Given the description of an element on the screen output the (x, y) to click on. 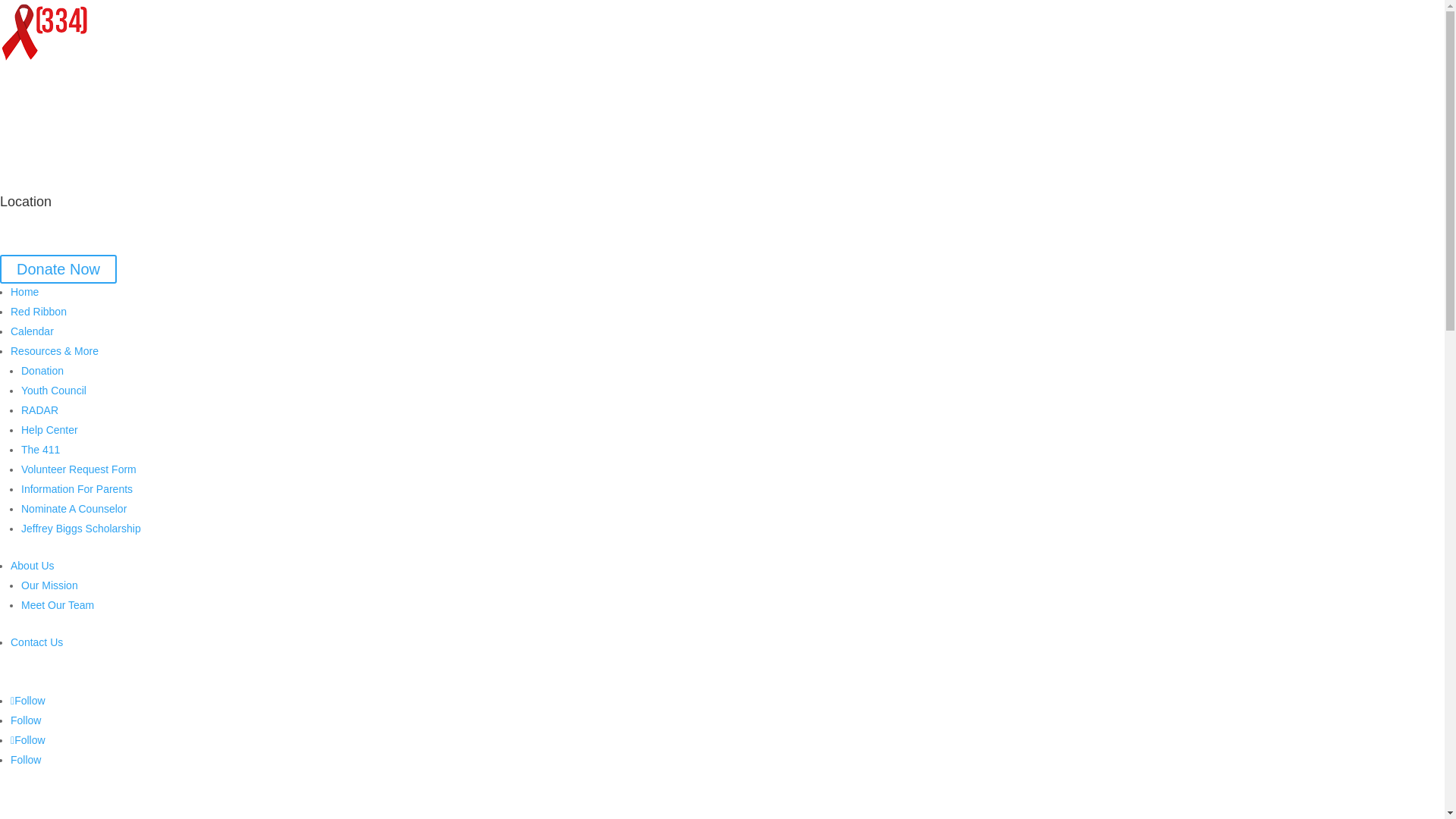
Information For Parents Element type: text (76, 489)
Follow Element type: text (25, 759)
Calendar Element type: text (31, 331)
Follow Element type: text (27, 700)
334project-prevention-logo-w-1b Element type: hover (45, 32)
Jeffrey Biggs Scholarship Element type: text (81, 528)
Red Ribbon Element type: text (38, 311)
Volunteer Request Form Element type: text (78, 469)
Donation Element type: text (42, 370)
Our Mission Element type: text (49, 585)
The 411 Element type: text (40, 449)
Resources & More Element type: text (54, 351)
Nominate A Counselor Element type: text (73, 508)
Donate Now Element type: text (58, 268)
334-699-2813 Element type: text (32, 142)
3245 Montgomery Hwy, Suite 8, Dothan, AL 36303 Element type: text (119, 224)
Follow Element type: text (27, 740)
Contact Us Element type: text (36, 642)
Meet Our Team Element type: text (57, 605)
Follow Element type: text (25, 720)
Home Element type: text (24, 291)
Youth Council Element type: text (53, 390)
Help Center Element type: text (49, 429)
RADAR Element type: text (39, 410)
About Us Element type: text (32, 565)
